Given the description of an element on the screen output the (x, y) to click on. 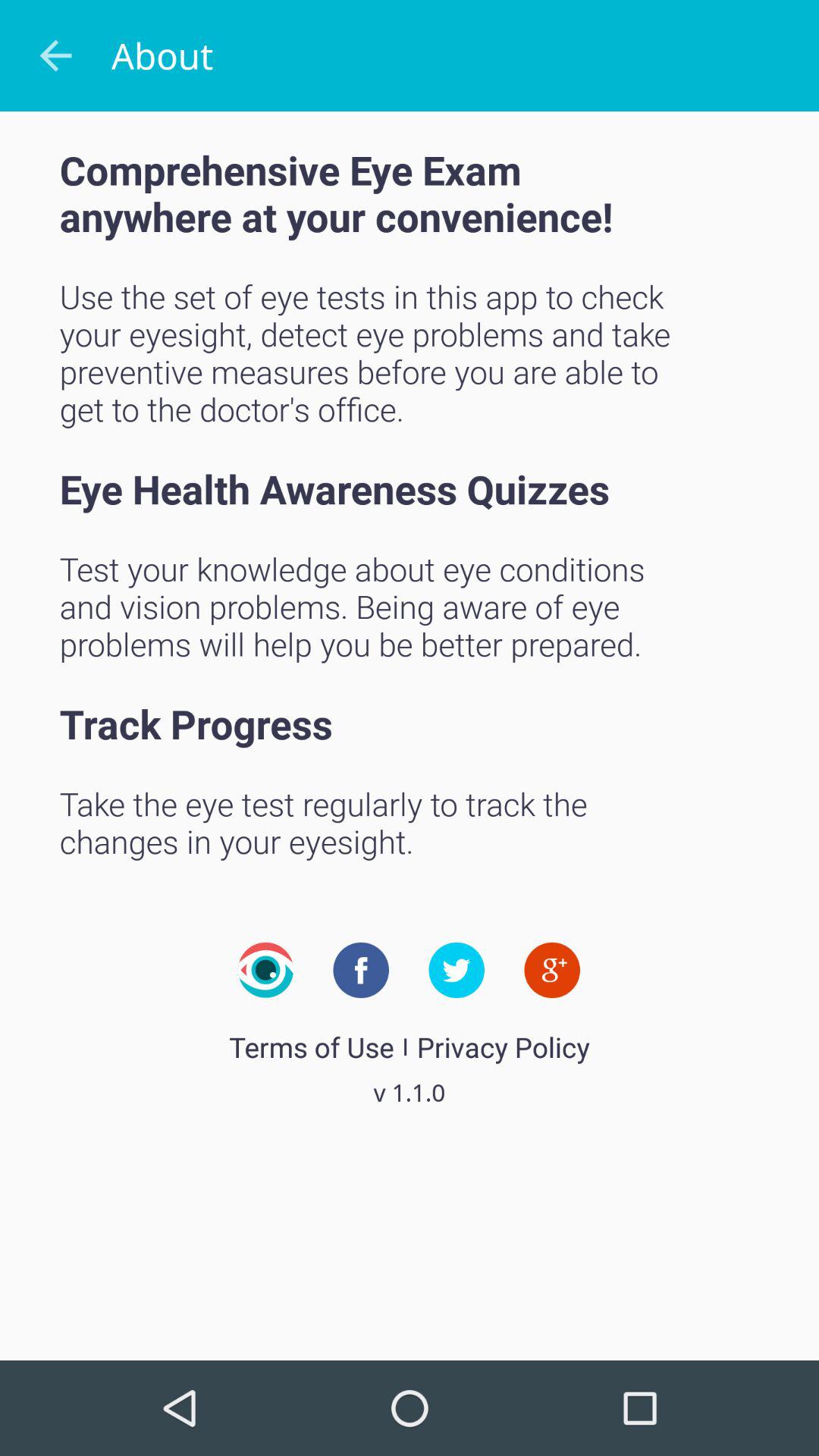
connect to company twitter page (456, 970)
